Given the description of an element on the screen output the (x, y) to click on. 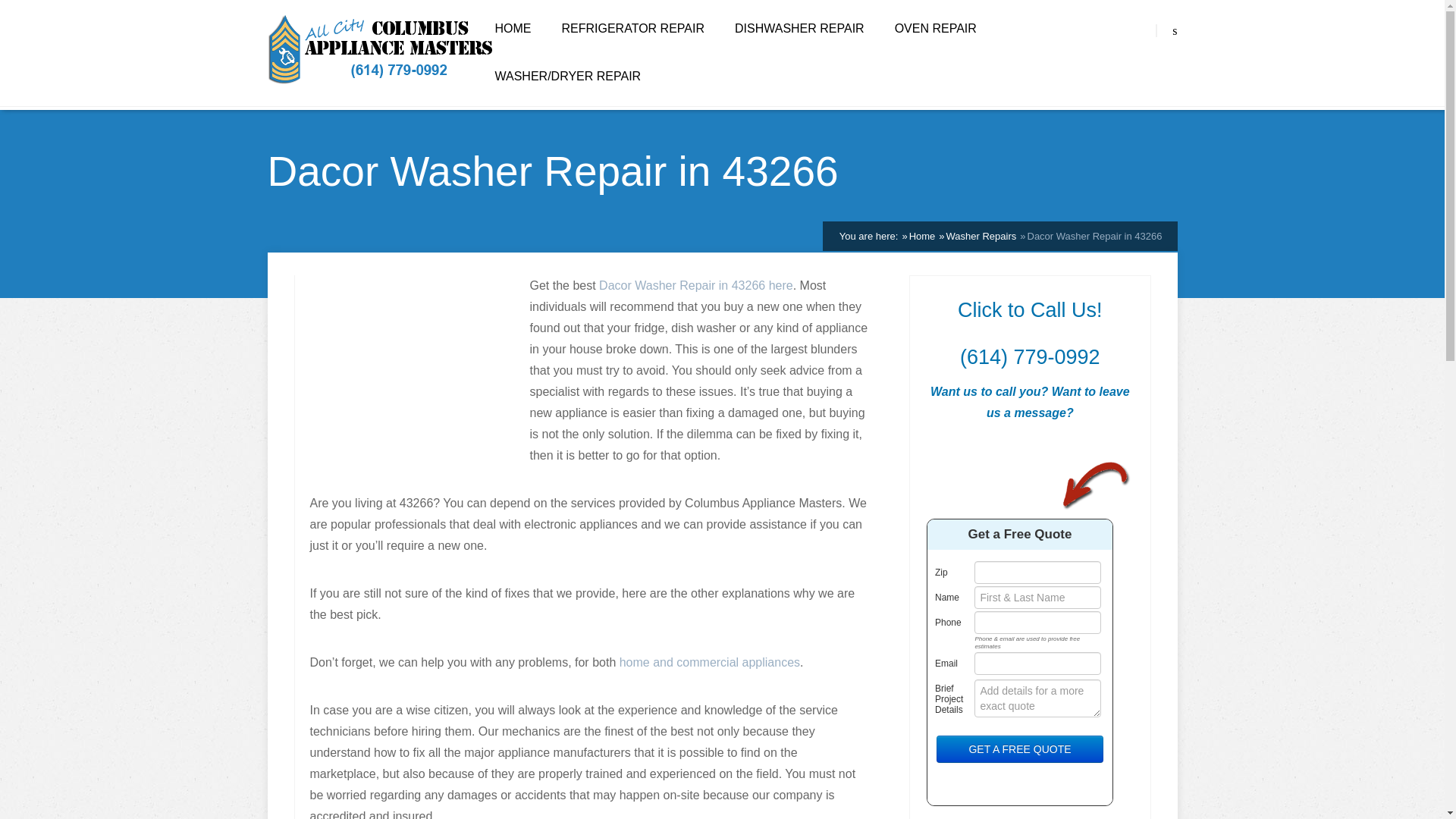
OVEN REPAIR (935, 29)
Home (922, 235)
DISHWASHER REPAIR (799, 29)
Dishwasher Repair Coumbus, Ohio (799, 29)
REFRIGERATOR REPAIR (631, 29)
home and commercial appliances (709, 661)
Dacor Washer Repair in 43266 here (695, 285)
Washer Repairs (981, 235)
HOME (513, 29)
Refrigerator Repair Columbus, Ohio (631, 29)
Oven Repair Columbus, Ohio (935, 29)
